Given the description of an element on the screen output the (x, y) to click on. 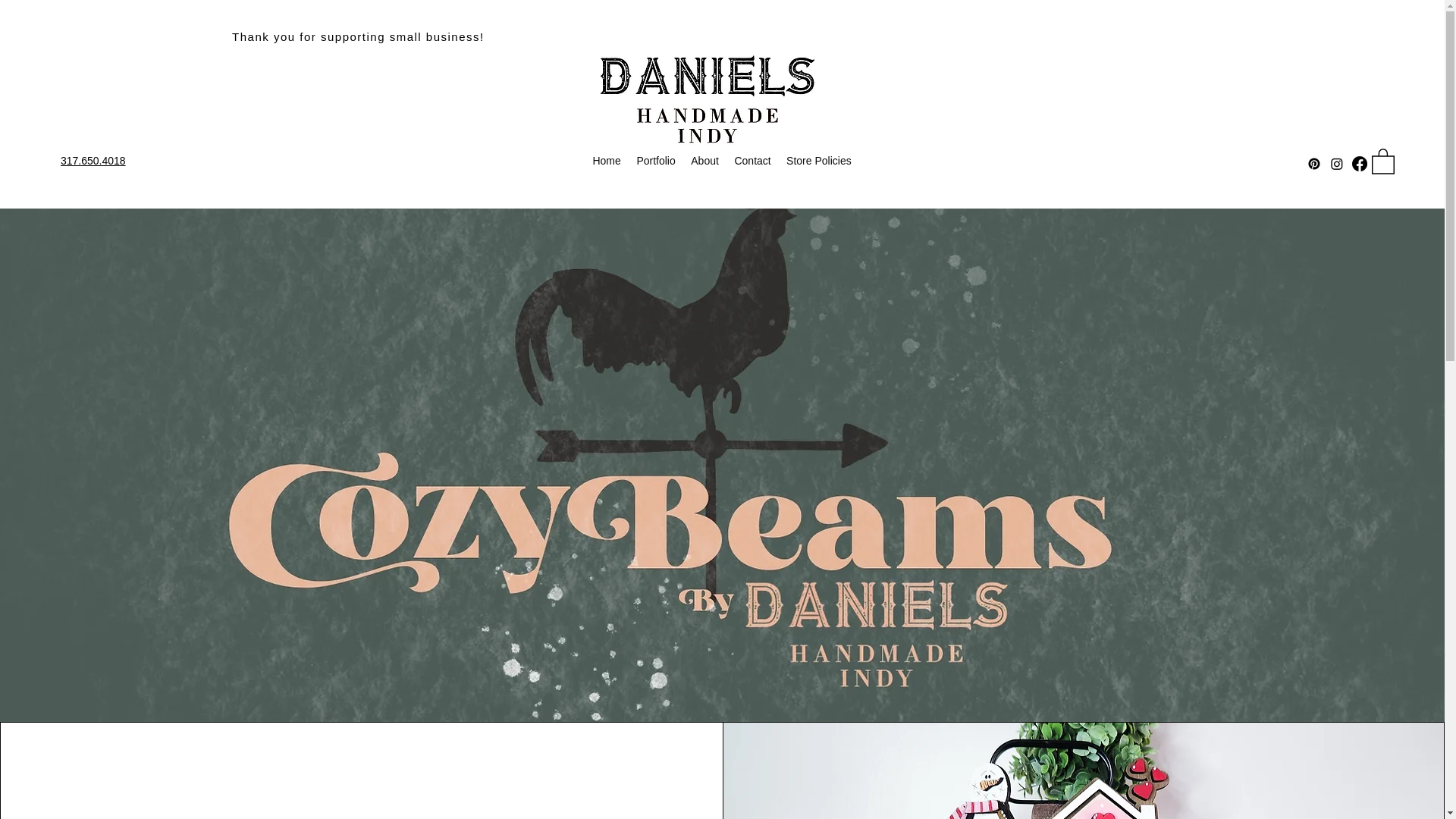
Portfolio (655, 160)
317.650.4018 (93, 160)
Store Policies (818, 160)
